Given the description of an element on the screen output the (x, y) to click on. 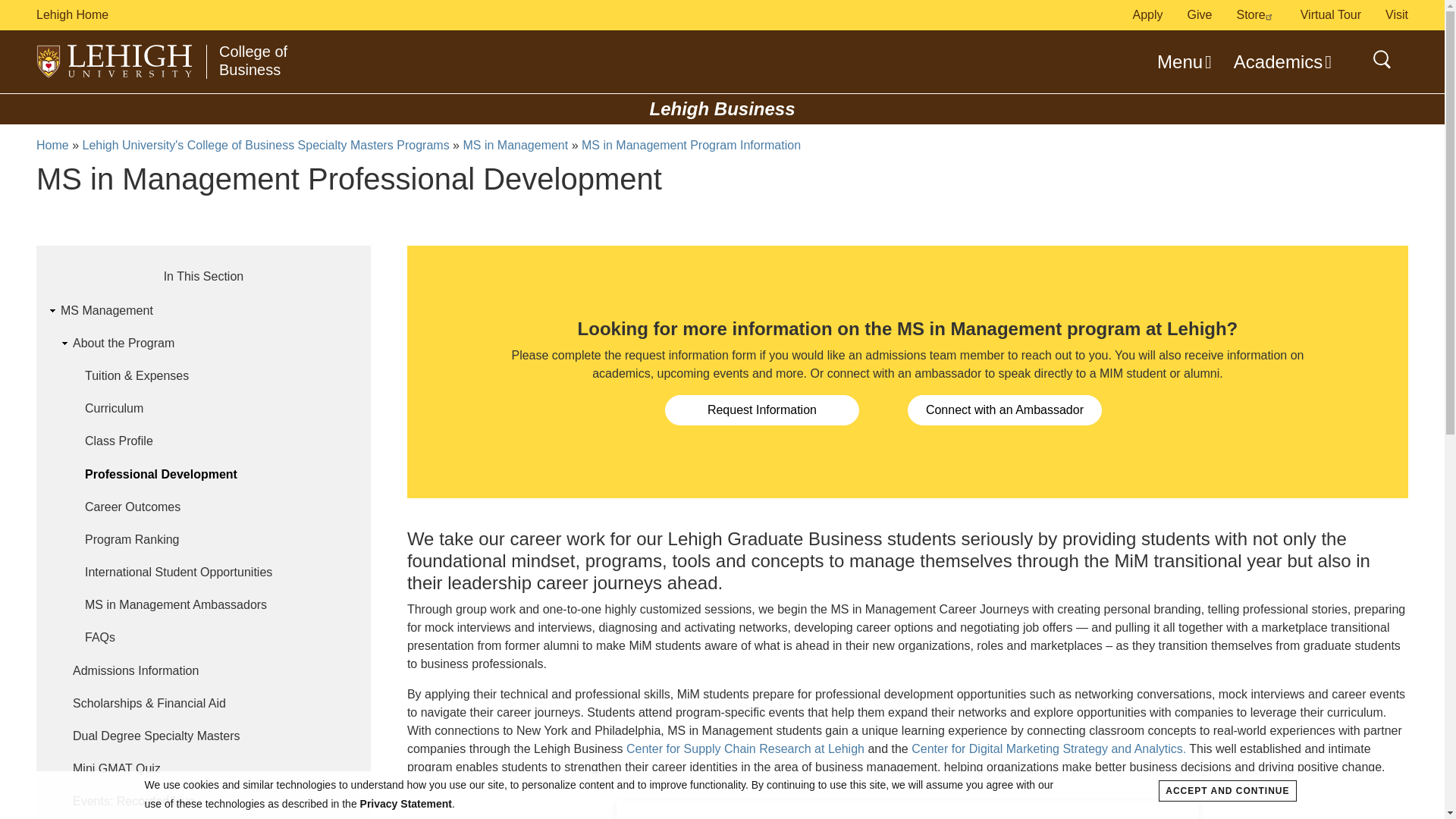
Lehigh Home (328, 14)
Visit (1396, 14)
Privacy Statement (405, 803)
Lehigh University Home (328, 14)
College of Business (252, 59)
Apply (1147, 14)
ACCEPT AND CONTINUE (1226, 790)
Menu (1183, 62)
Academics (1281, 62)
Virtual Tour (1330, 14)
Give (1200, 14)
Go to homepage (114, 61)
